Given the description of an element on the screen output the (x, y) to click on. 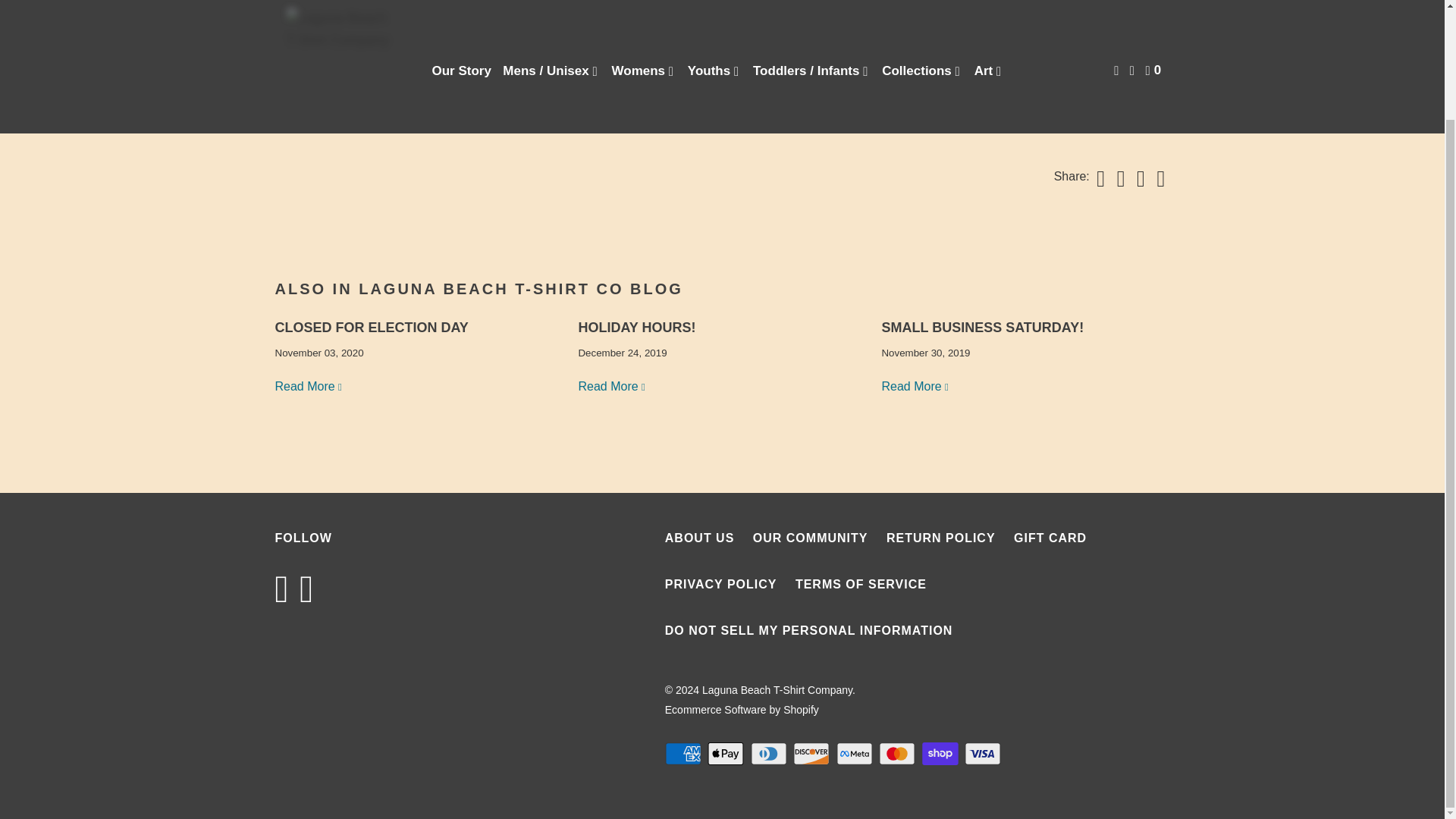
Diners Club (770, 753)
American Express (684, 753)
Small Business Saturday! (981, 327)
Holiday hours! (612, 386)
Closed for Election Day (309, 386)
Meta Pay (855, 753)
Small Business Saturday! (915, 386)
Holiday hours! (636, 327)
Apple Pay (726, 753)
Laguna Beach T-Shirt Company (342, 2)
